Given the description of an element on the screen output the (x, y) to click on. 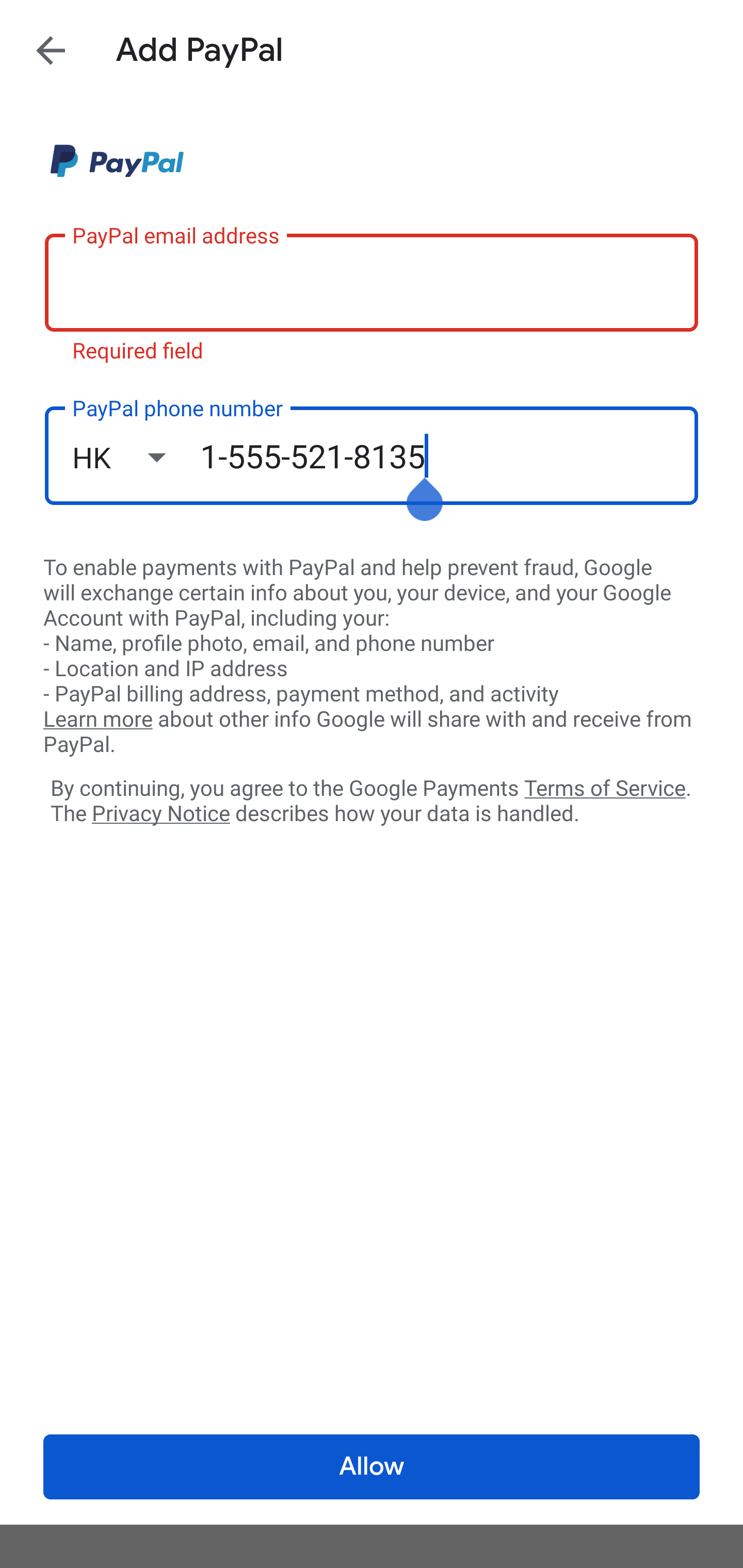
Navigate up (50, 50)
HK (135, 456)
Learn more (97, 719)
Terms of Service (604, 787)
Privacy Notice (160, 814)
Allow (371, 1466)
